Given the description of an element on the screen output the (x, y) to click on. 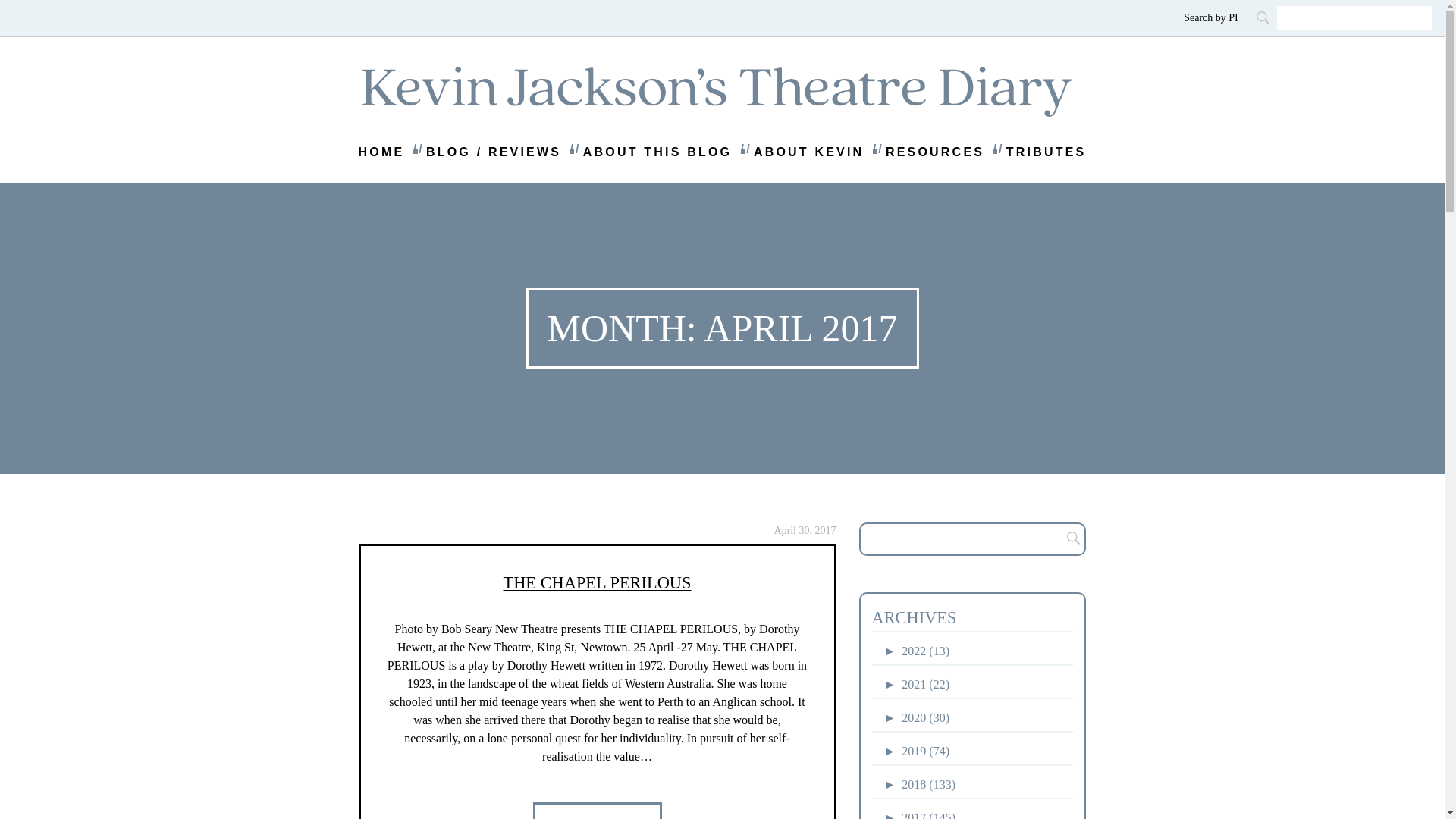
ABOUT KEVIN (808, 152)
READ MORE (596, 810)
ABOUT THIS BLOG (657, 152)
Search (1264, 17)
TRIBUTES (1046, 152)
HOME (381, 152)
April 30, 2017 (804, 530)
RESOURCES (934, 152)
THE CHAPEL PERILOUS (597, 582)
Search (1069, 539)
